Given the description of an element on the screen output the (x, y) to click on. 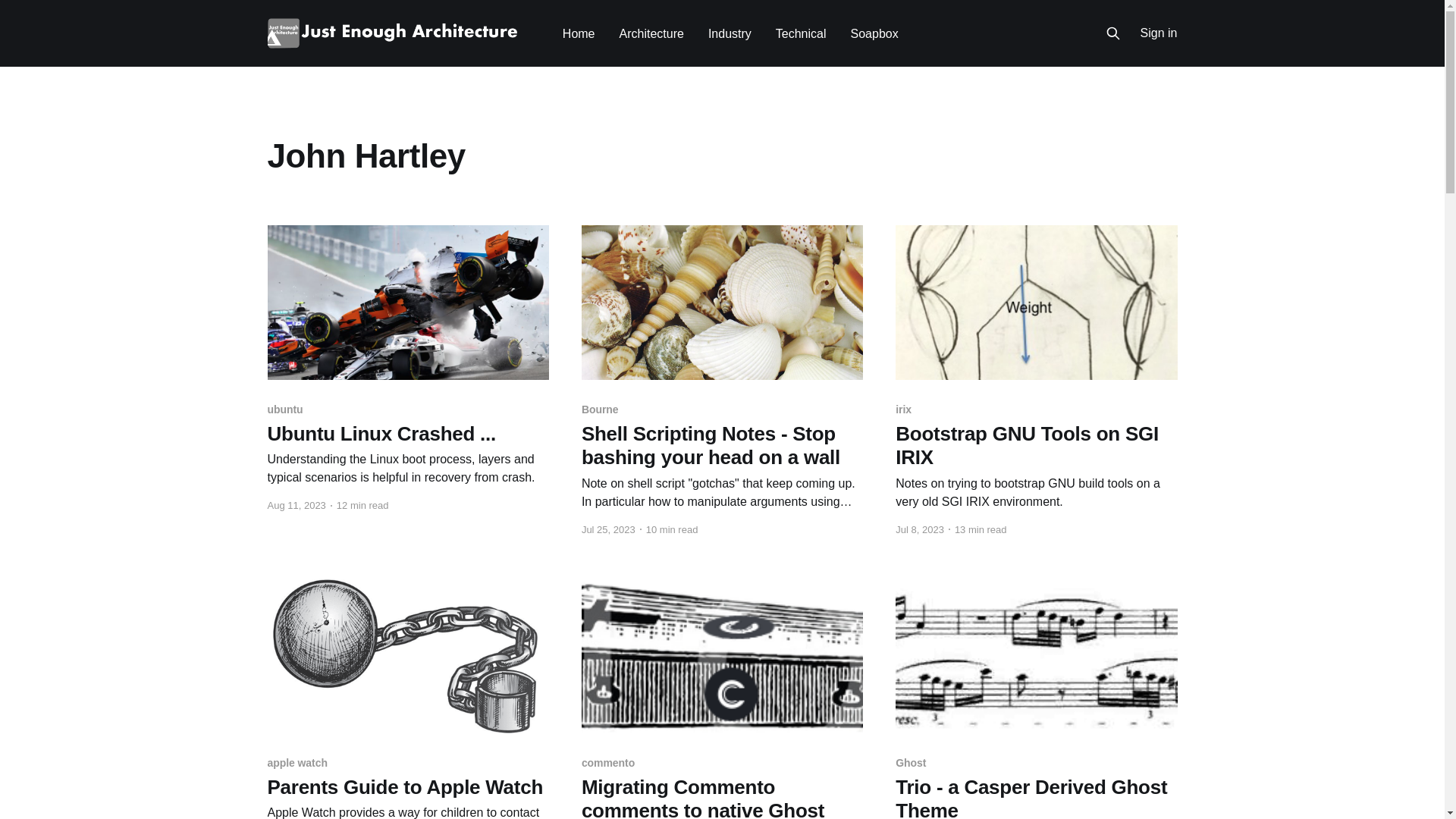
Architecture Element type: text (651, 33)
Home Element type: text (578, 33)
Sign in Element type: text (1158, 33)
Industry Element type: text (729, 33)
Soapbox Element type: text (874, 33)
Technical Element type: text (800, 33)
